Given the description of an element on the screen output the (x, y) to click on. 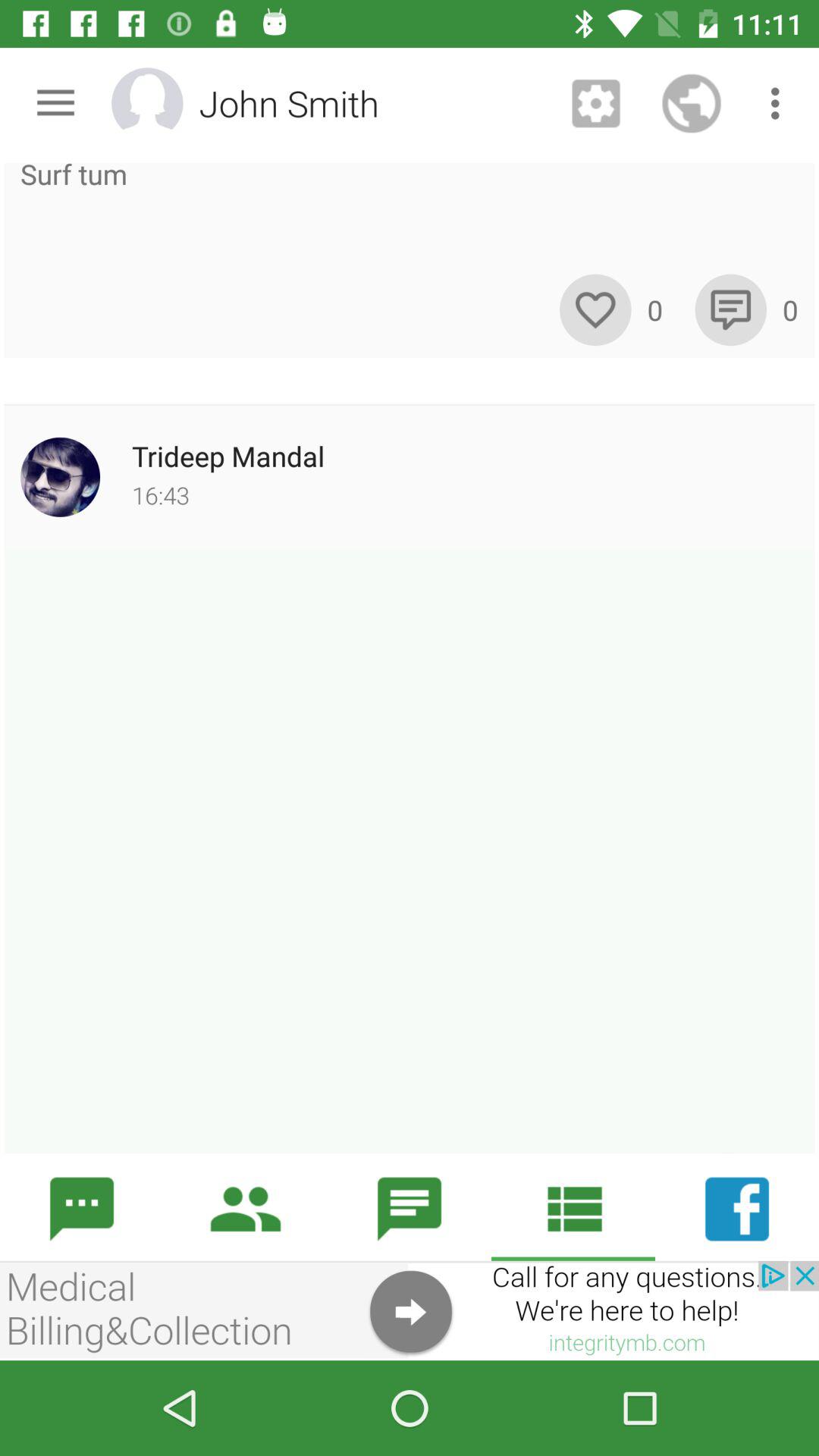
help information (409, 1310)
